Given the description of an element on the screen output the (x, y) to click on. 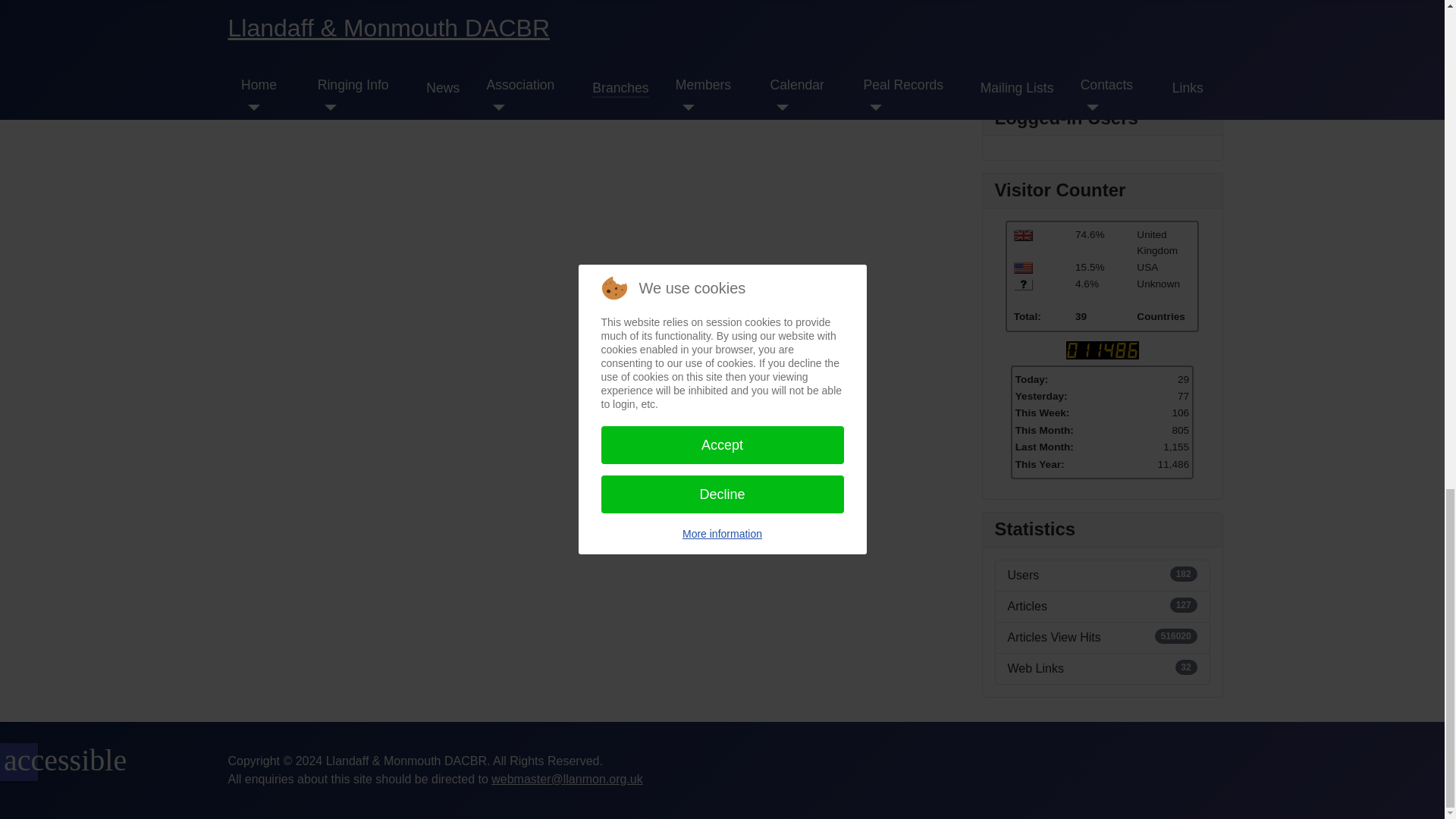
8,527 (1022, 235)
526 (1022, 284)
1,768 (1022, 267)
